Given the description of an element on the screen output the (x, y) to click on. 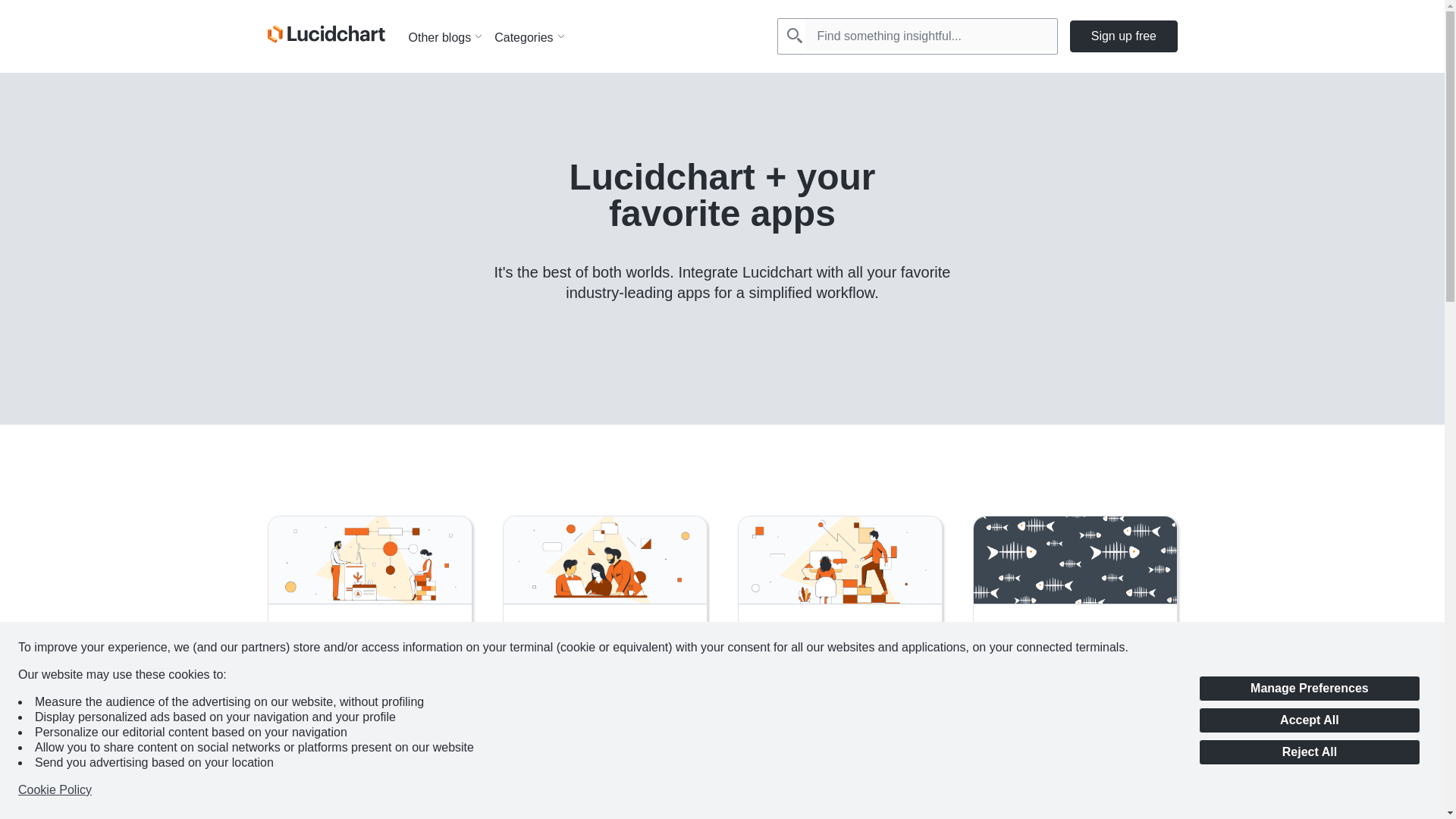
Lucidchart tips (1086, 792)
Cookie Policy (54, 789)
Lucidchart tips (635, 792)
Diagramming (321, 792)
Diagramming (556, 792)
Lucidchart tips (399, 792)
Business (1016, 792)
Project management (806, 817)
Categories (535, 35)
Other blogs (451, 35)
